Given the description of an element on the screen output the (x, y) to click on. 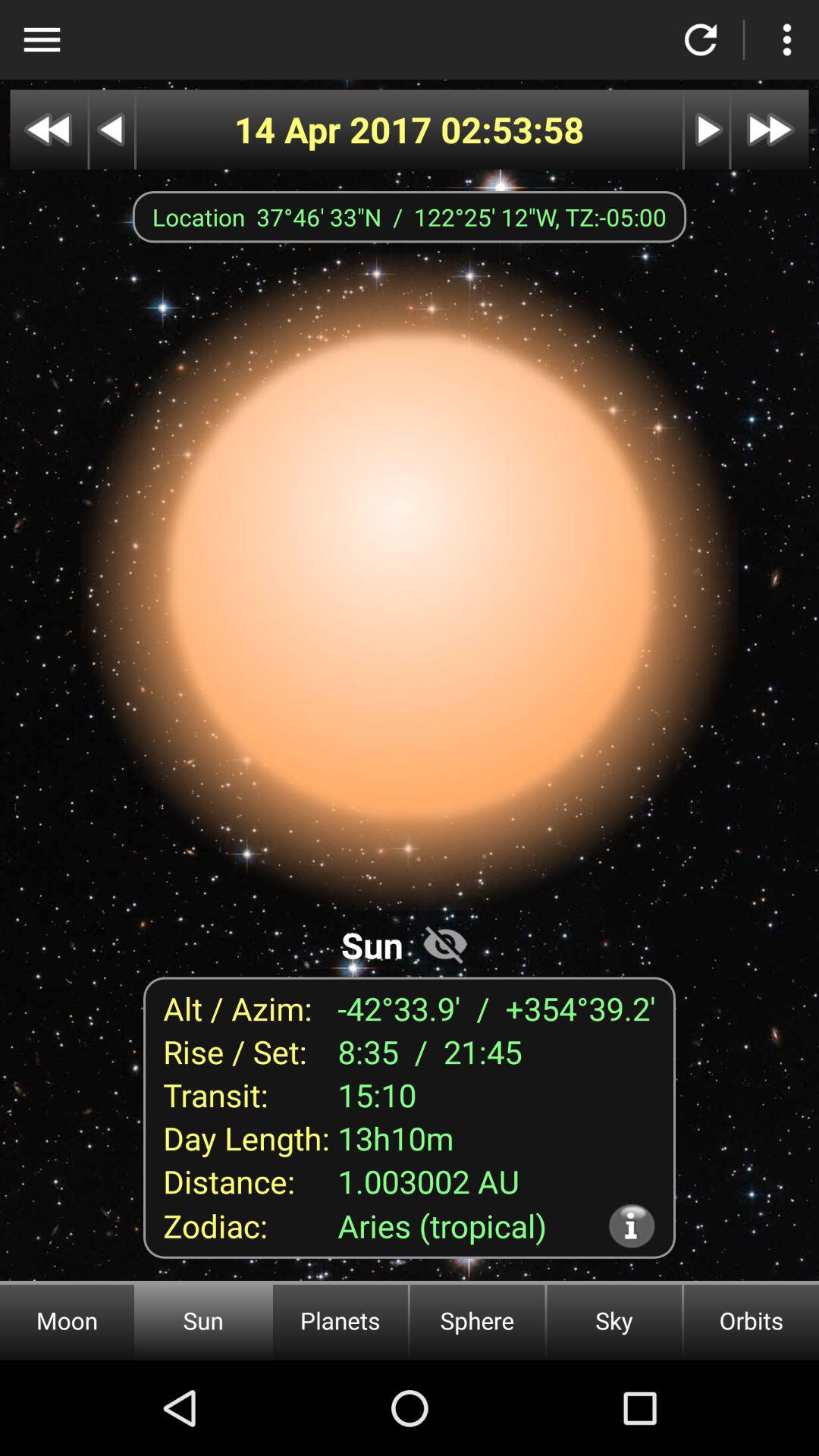
turn off the sun (445, 943)
